Given the description of an element on the screen output the (x, y) to click on. 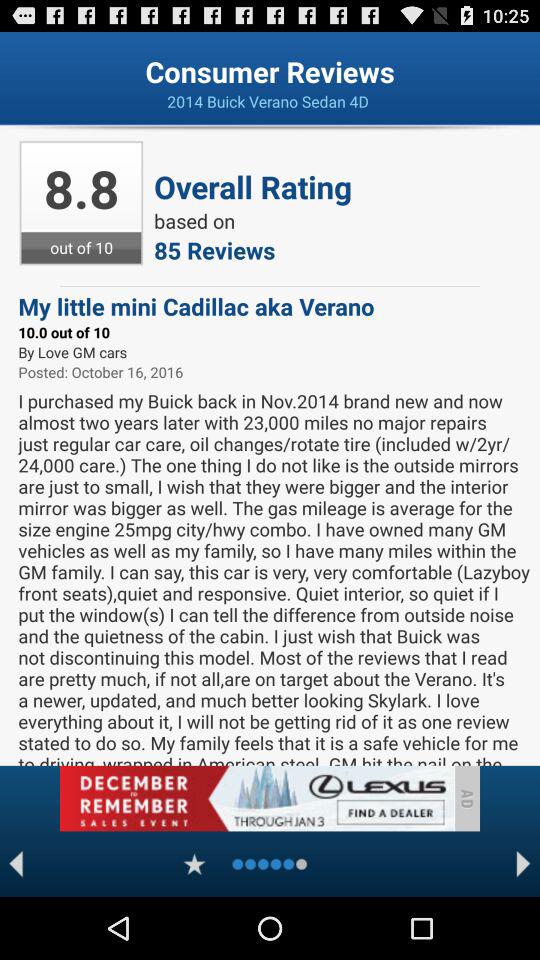
book mark (194, 864)
